Given the description of an element on the screen output the (x, y) to click on. 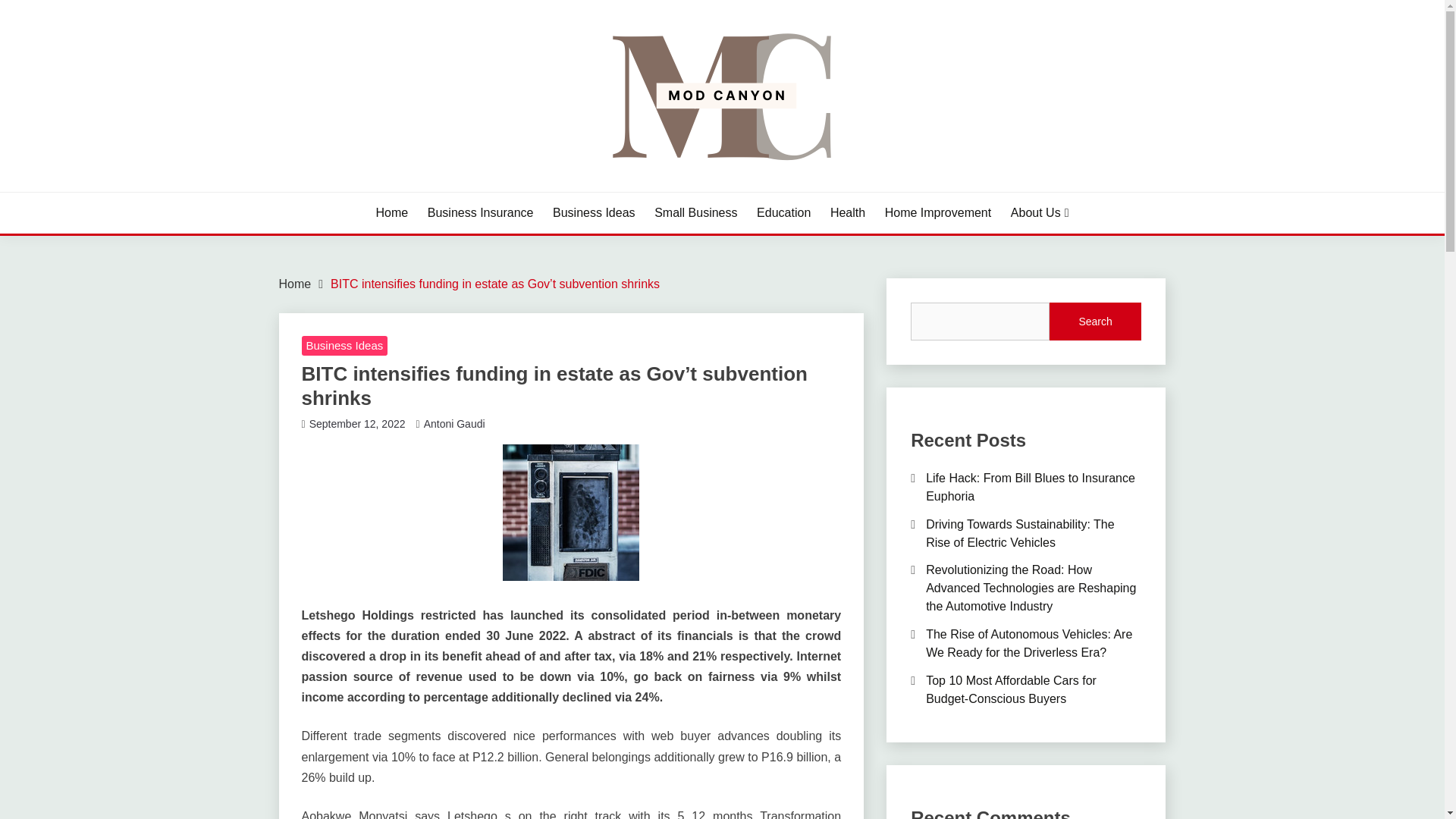
September 12, 2022 (357, 422)
Small Business (694, 212)
Home (392, 212)
Antoni Gaudi (453, 422)
Search (1095, 321)
Business Ideas (593, 212)
Health (846, 212)
About Us (1039, 212)
MODCANYON (371, 189)
